Given the description of an element on the screen output the (x, y) to click on. 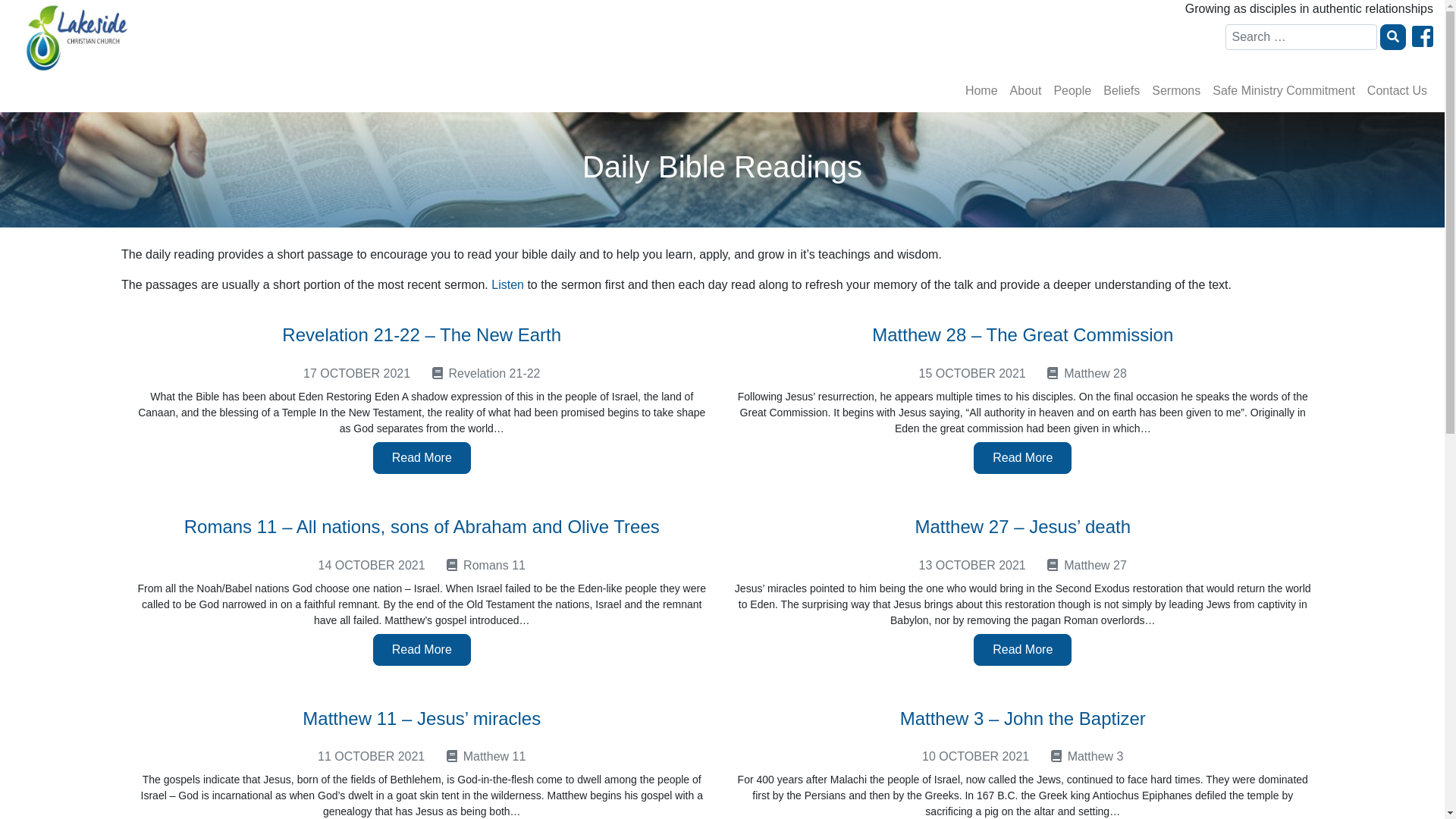
People Element type: text (1072, 90)
Read More Element type: text (421, 649)
Read More Element type: text (1022, 457)
Listen Element type: text (507, 284)
Read More Element type: text (421, 457)
Home Element type: text (981, 90)
Safe Ministry Commitment Element type: text (1283, 90)
Sermons Element type: text (1175, 90)
Read More Element type: text (1022, 649)
Beliefs Element type: text (1121, 90)
About Element type: text (1026, 90)
Contact Us Element type: text (1397, 90)
